Given the description of an element on the screen output the (x, y) to click on. 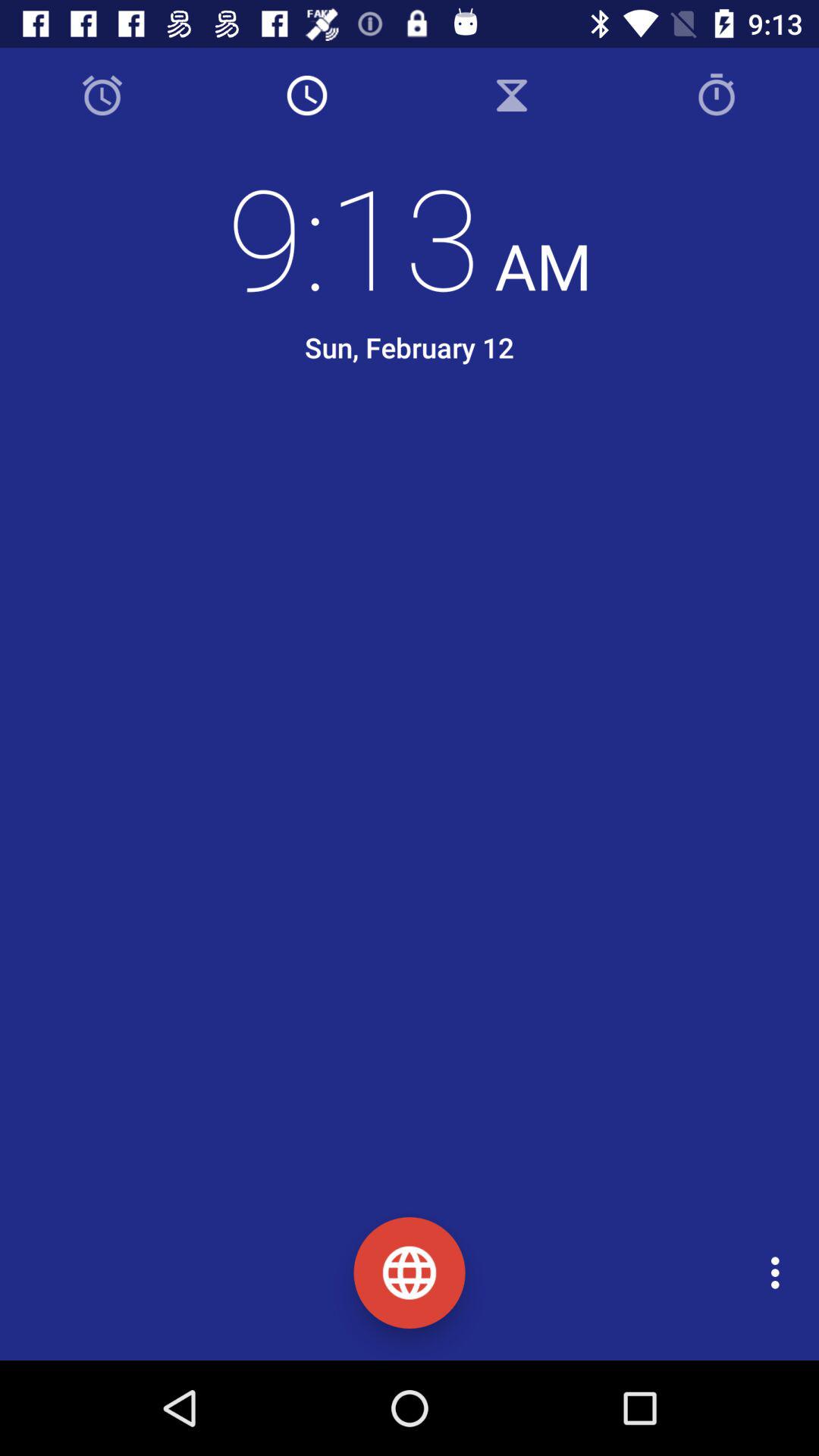
open the icon below the sun, february 12 (421, 453)
